Given the description of an element on the screen output the (x, y) to click on. 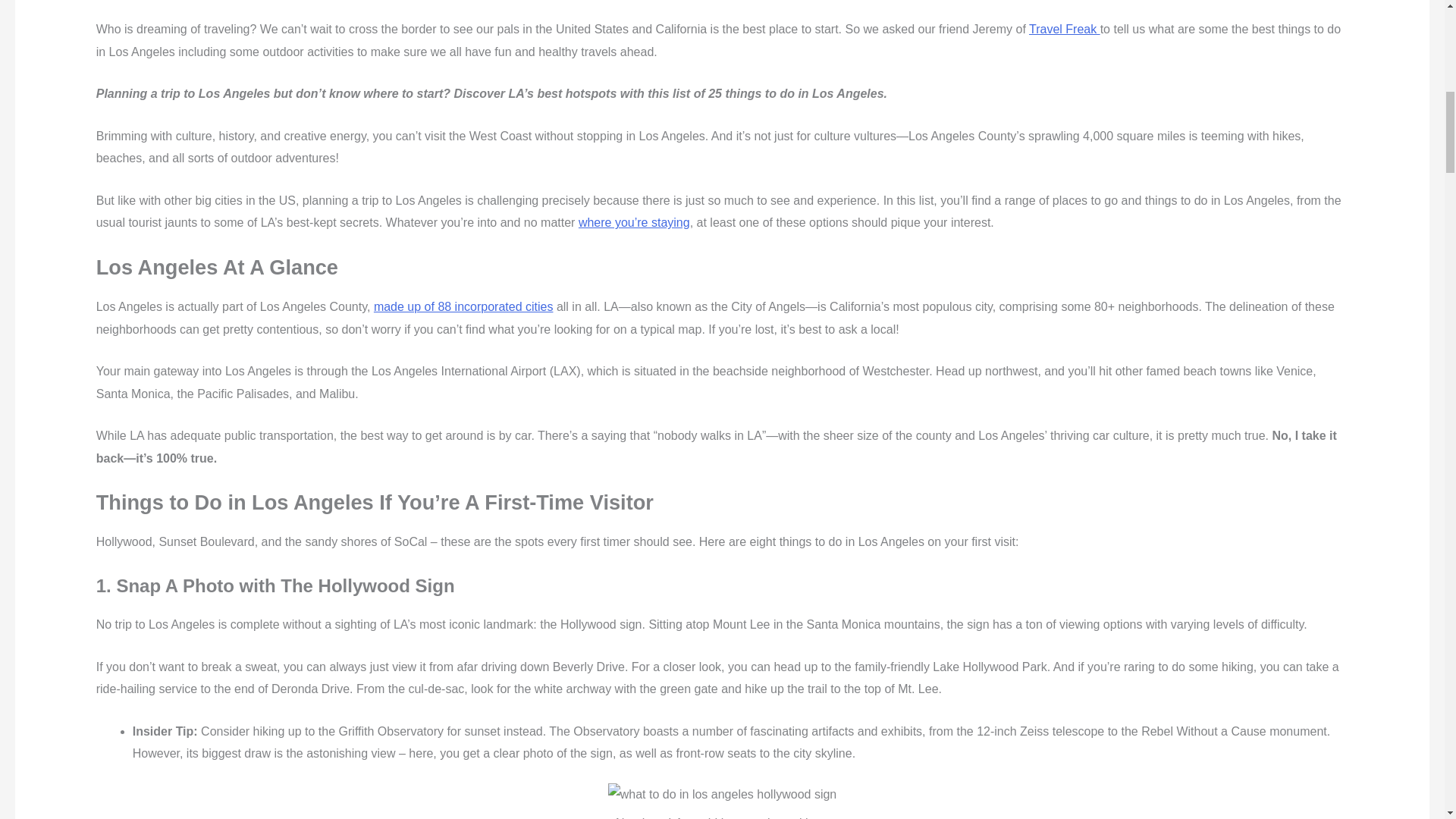
made up of 88 incorporated cities (463, 306)
Travel Freak (1064, 29)
